Given the description of an element on the screen output the (x, y) to click on. 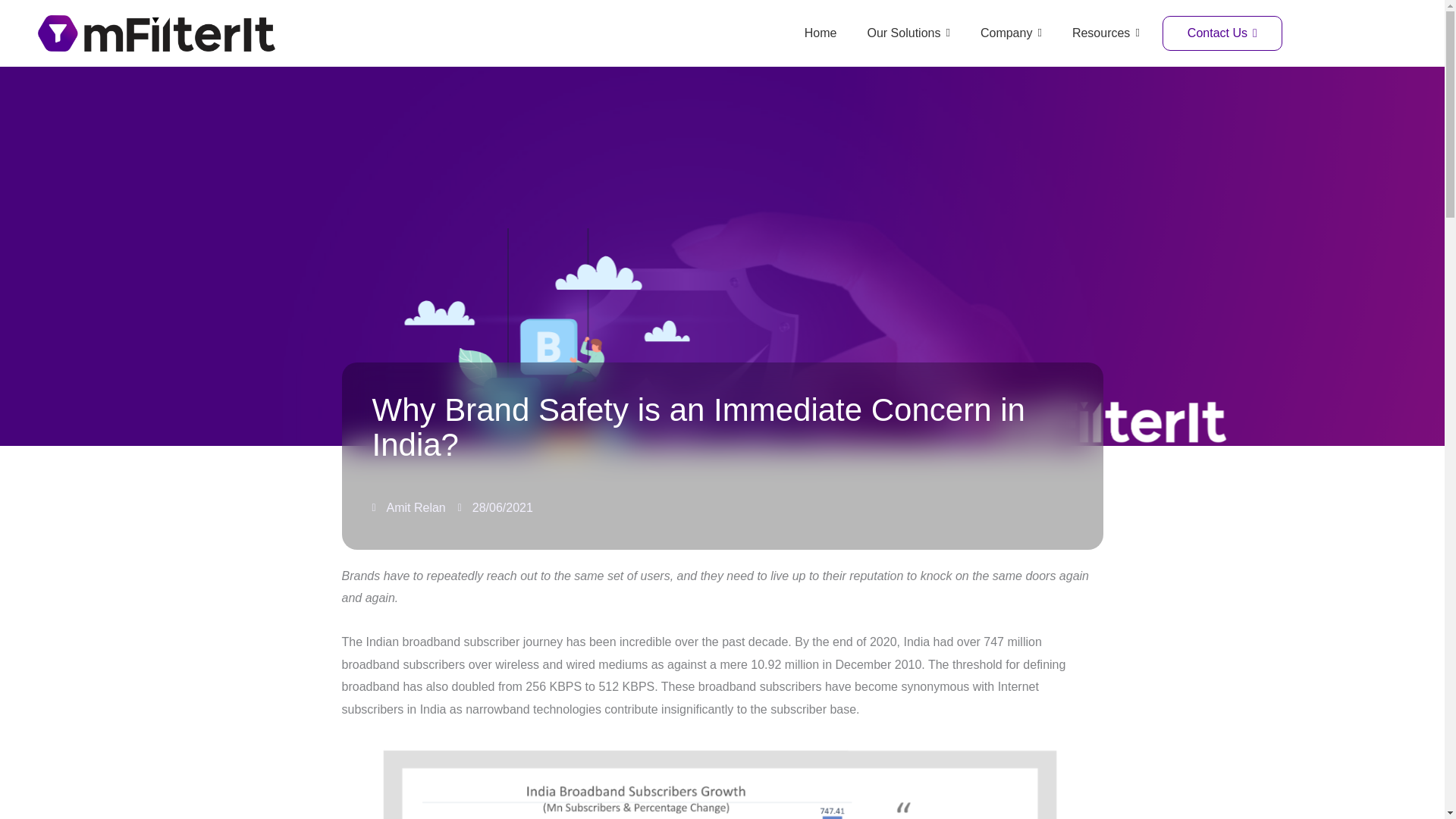
Our Solutions (909, 33)
Contact Us (1221, 32)
Resources (1105, 33)
Amit Relan (408, 507)
Company (1010, 33)
Home (820, 33)
